Given the description of an element on the screen output the (x, y) to click on. 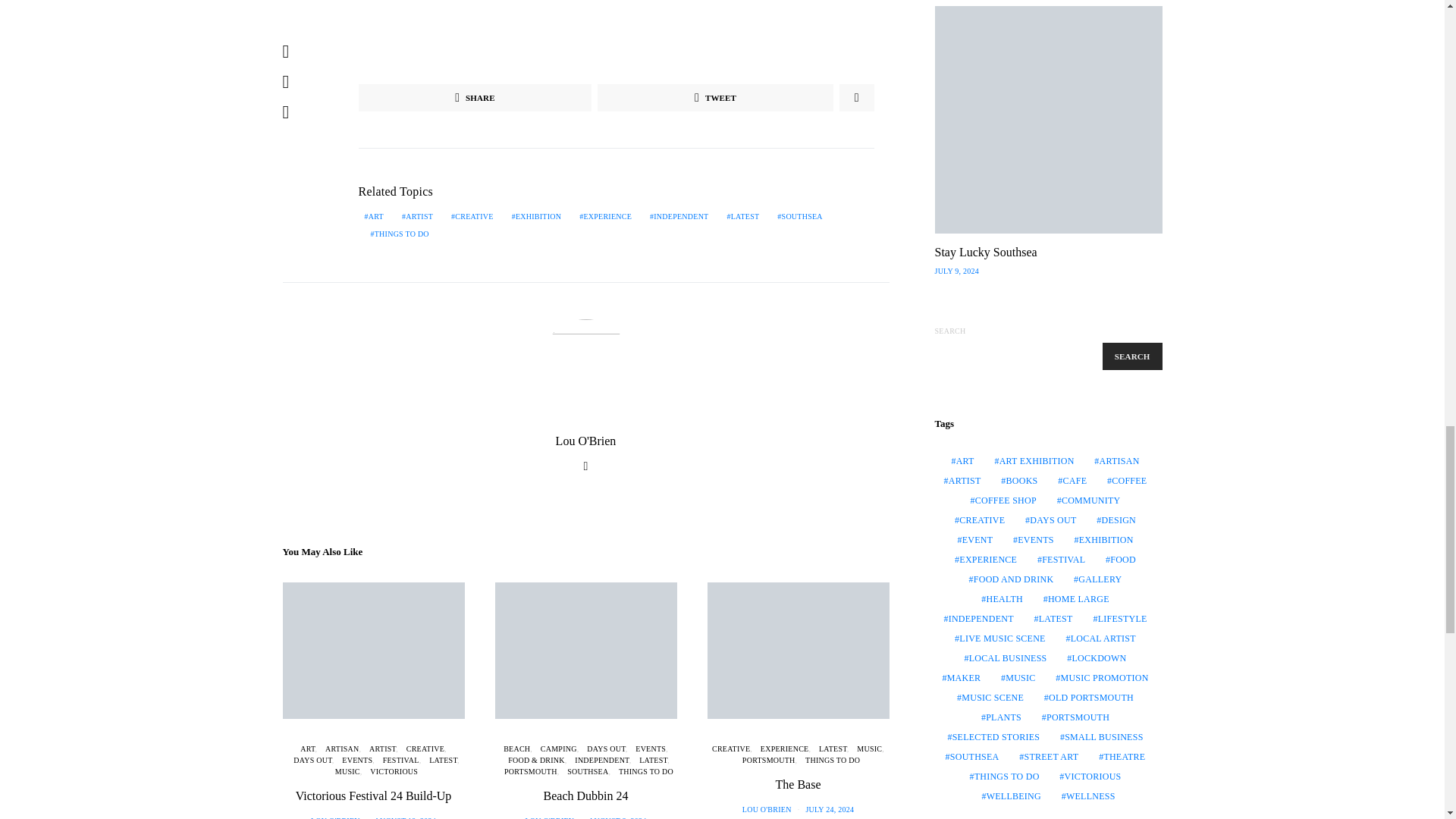
View all posts by Lou O'Brien (550, 817)
View all posts by Lou O'Brien (767, 809)
View all posts by Lou O'Brien (335, 817)
